Given the description of an element on the screen output the (x, y) to click on. 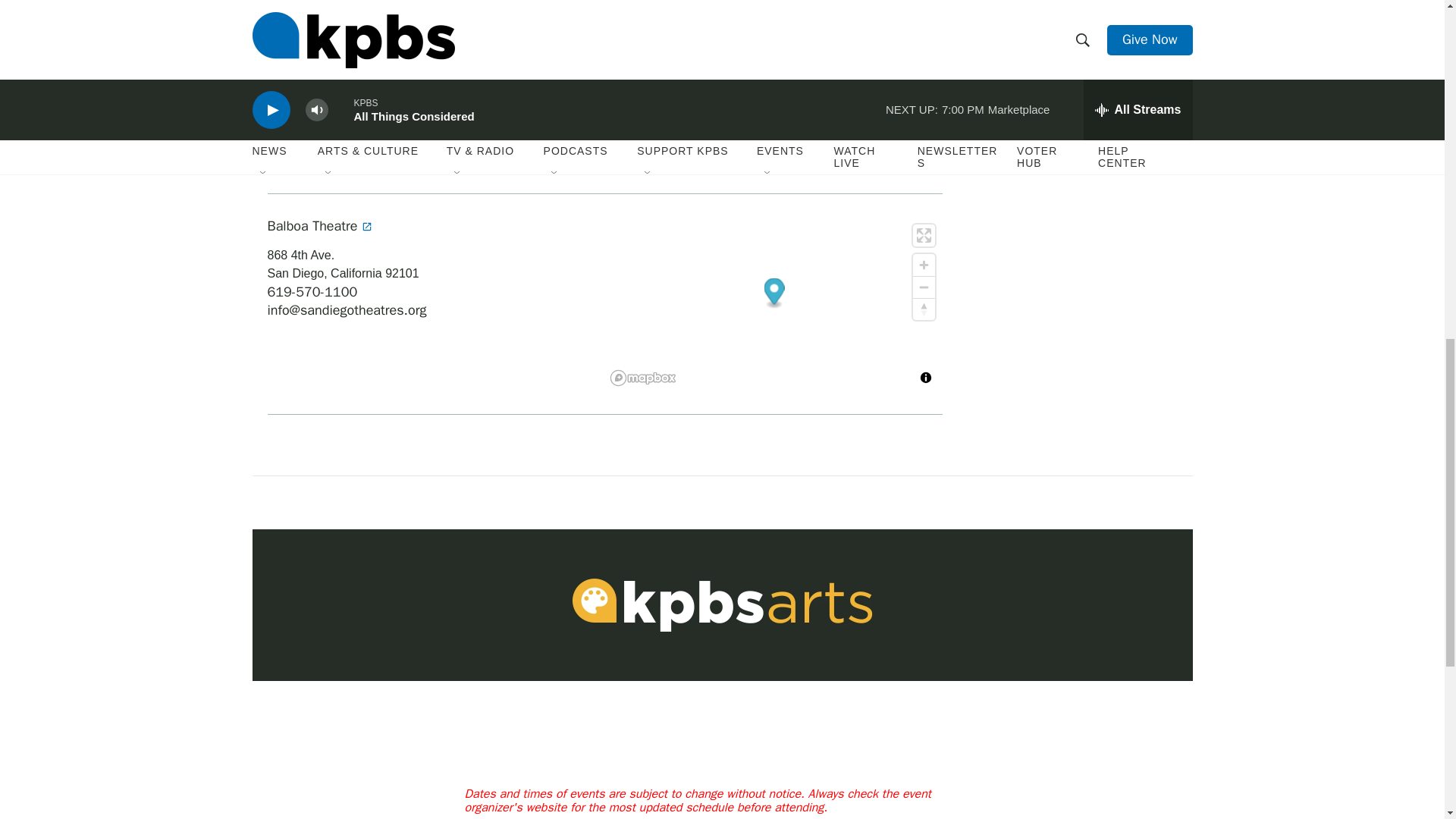
Zoom in (923, 264)
Zoom out (923, 287)
Reset bearing to north (923, 309)
Enter fullscreen (923, 235)
